Given the description of an element on the screen output the (x, y) to click on. 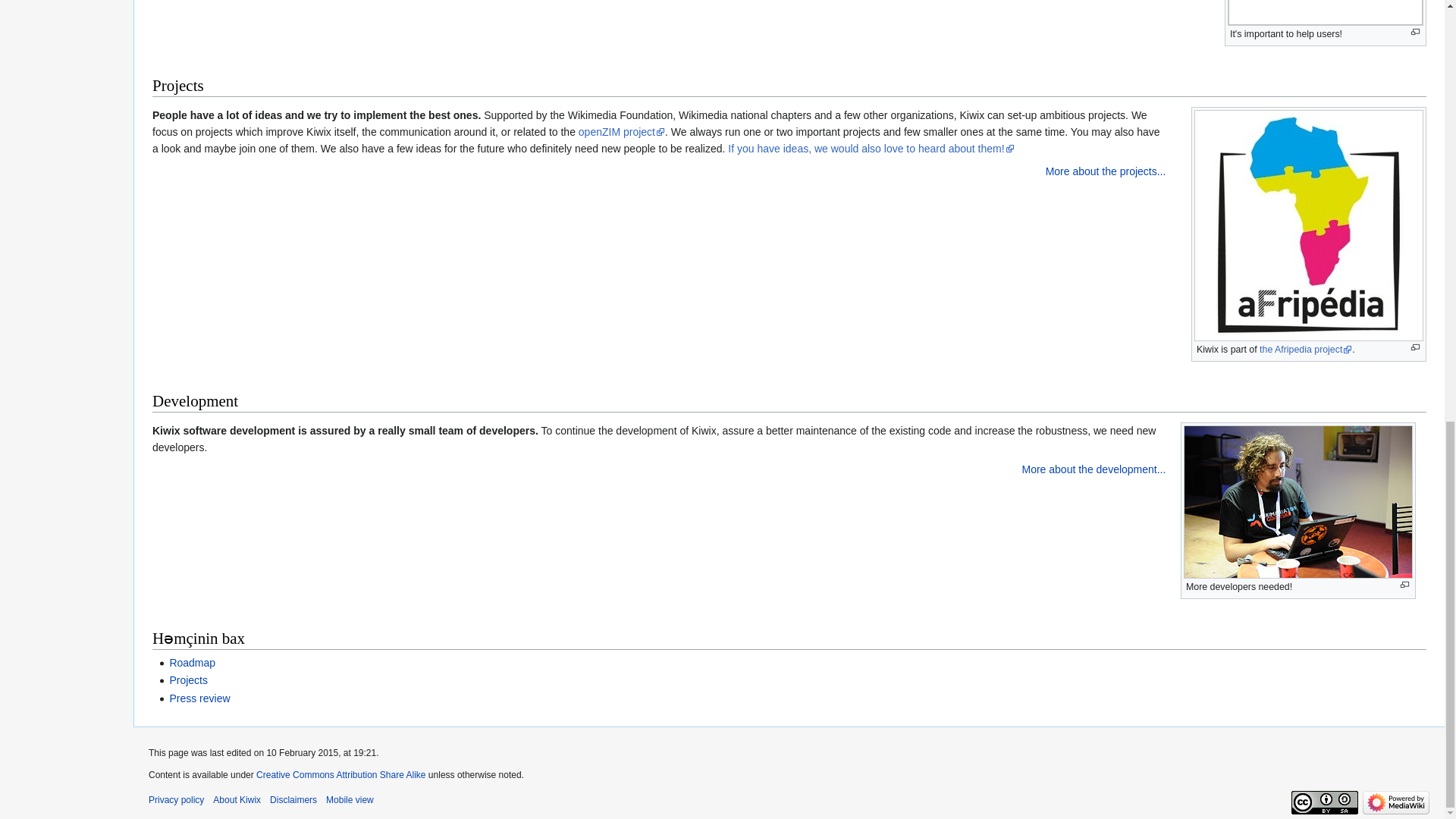
If you have ideas, we would also love to heard about them! (870, 148)
openZIM project (621, 132)
